Given the description of an element on the screen output the (x, y) to click on. 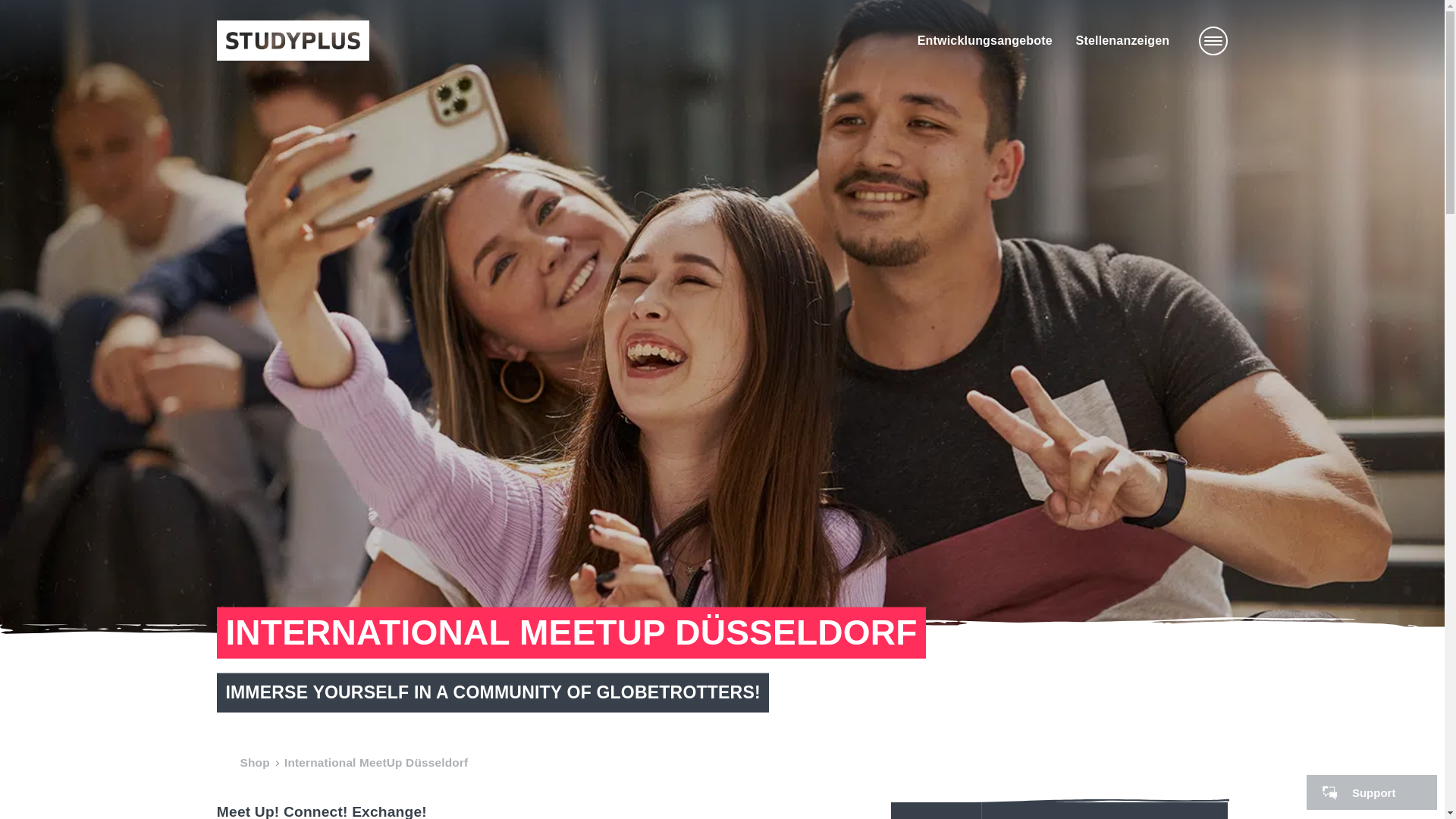
Shop (254, 762)
Support (1371, 792)
Hochschule Fresenius (292, 40)
Stellenanzeigen (1122, 40)
Entwicklungsangebote (984, 40)
